Given the description of an element on the screen output the (x, y) to click on. 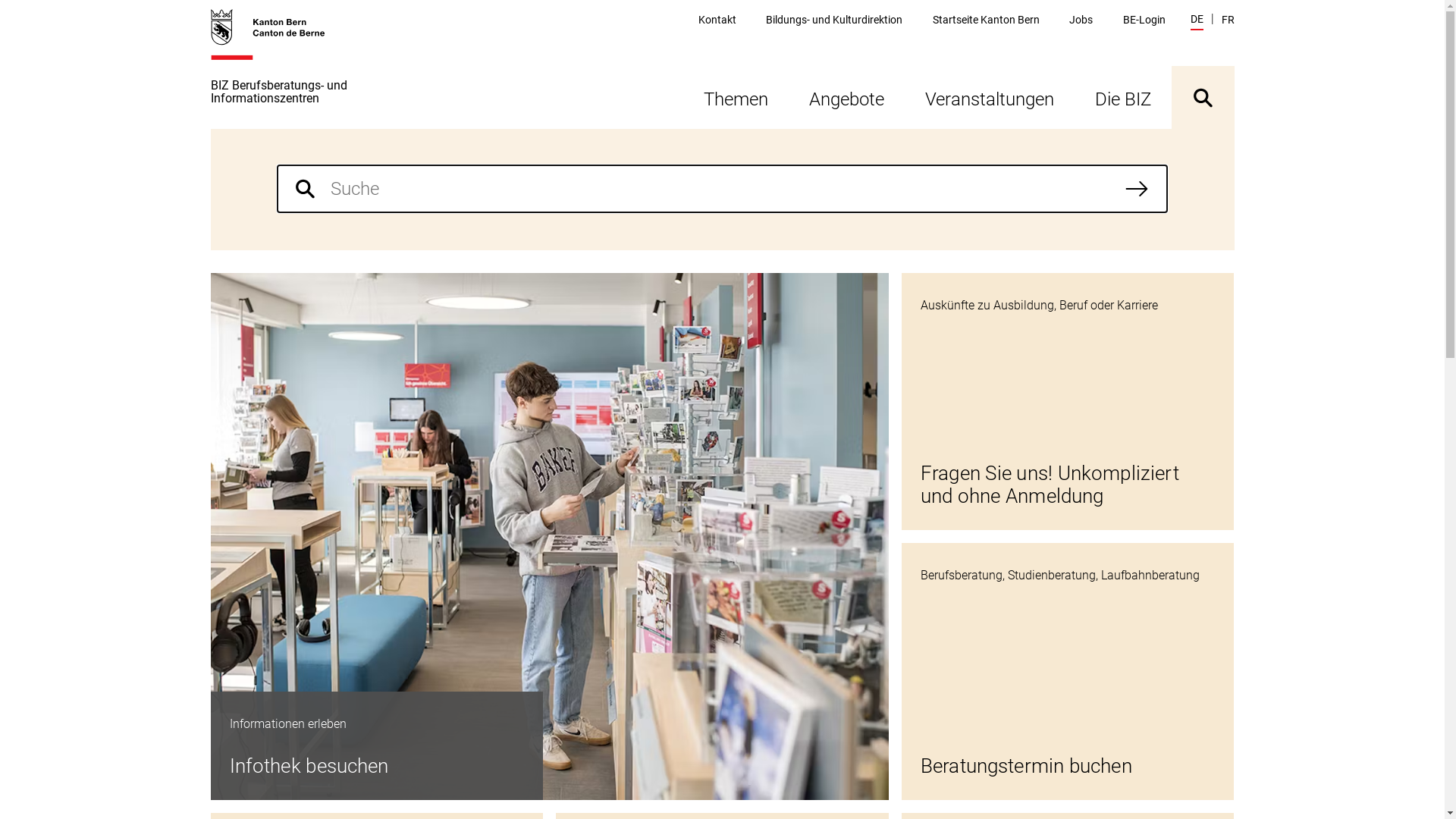
Startseite Kanton Bern Element type: text (985, 19)
Suche ein- oder ausblenden Element type: text (1201, 96)
FR Element type: text (1226, 19)
Kontakt Element type: text (717, 19)
Veranstaltungen Element type: text (988, 96)
Bildungs- und Kulturdirektion Element type: text (833, 19)
Infothek besuchen
Informationen erleben Element type: text (549, 536)
Die BIZ Element type: text (1121, 96)
Suchen Element type: text (1136, 188)
DE Element type: text (1196, 21)
Themen Element type: text (734, 96)
BE-Login Element type: text (1144, 19)
BIZ Berufsberatungs- und Informationszentren Element type: text (331, 68)
Jobs Element type: text (1080, 19)
Angebote Element type: text (846, 96)
